Given the description of an element on the screen output the (x, y) to click on. 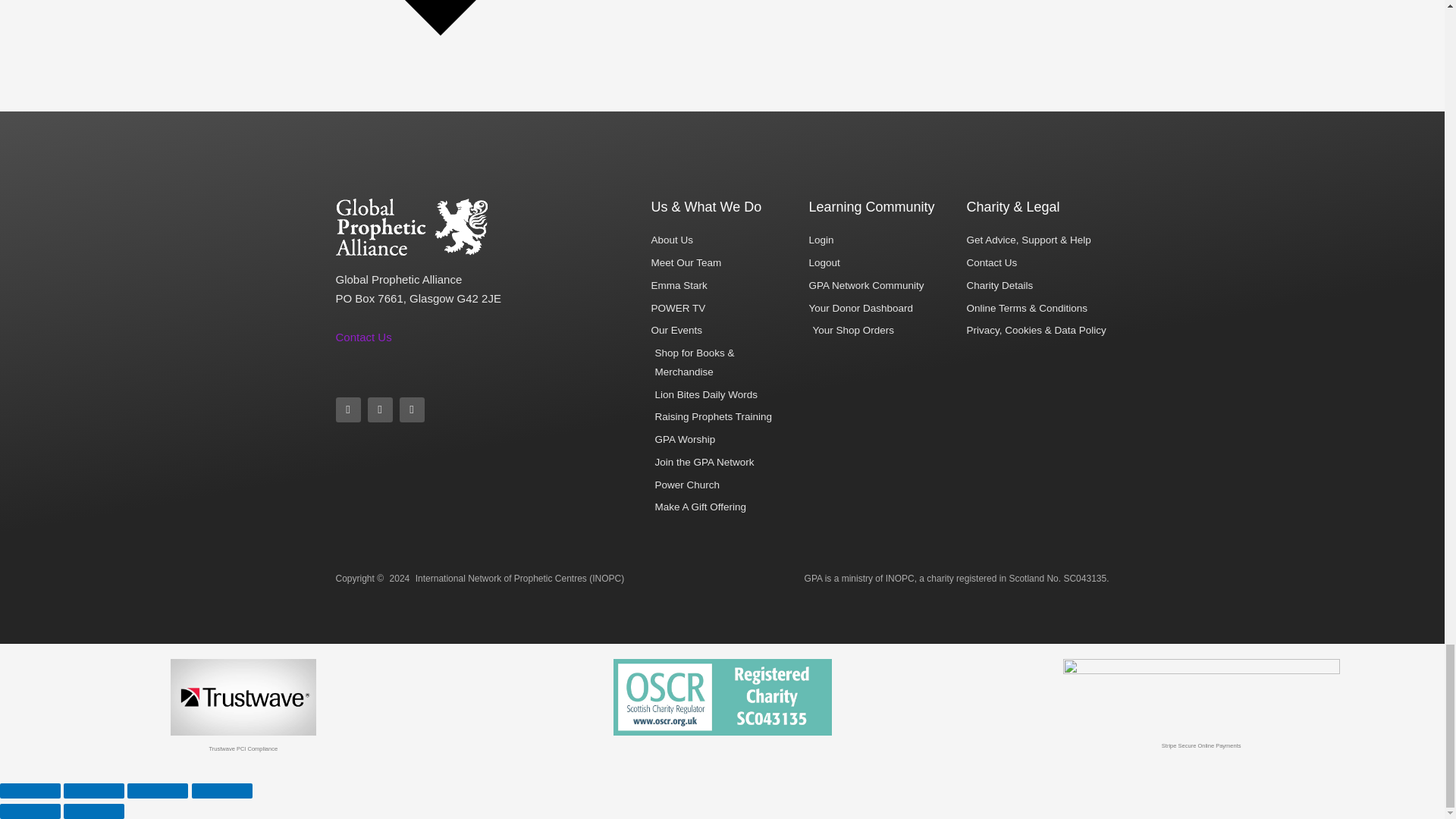
Next week (721, 40)
